Given the description of an element on the screen output the (x, y) to click on. 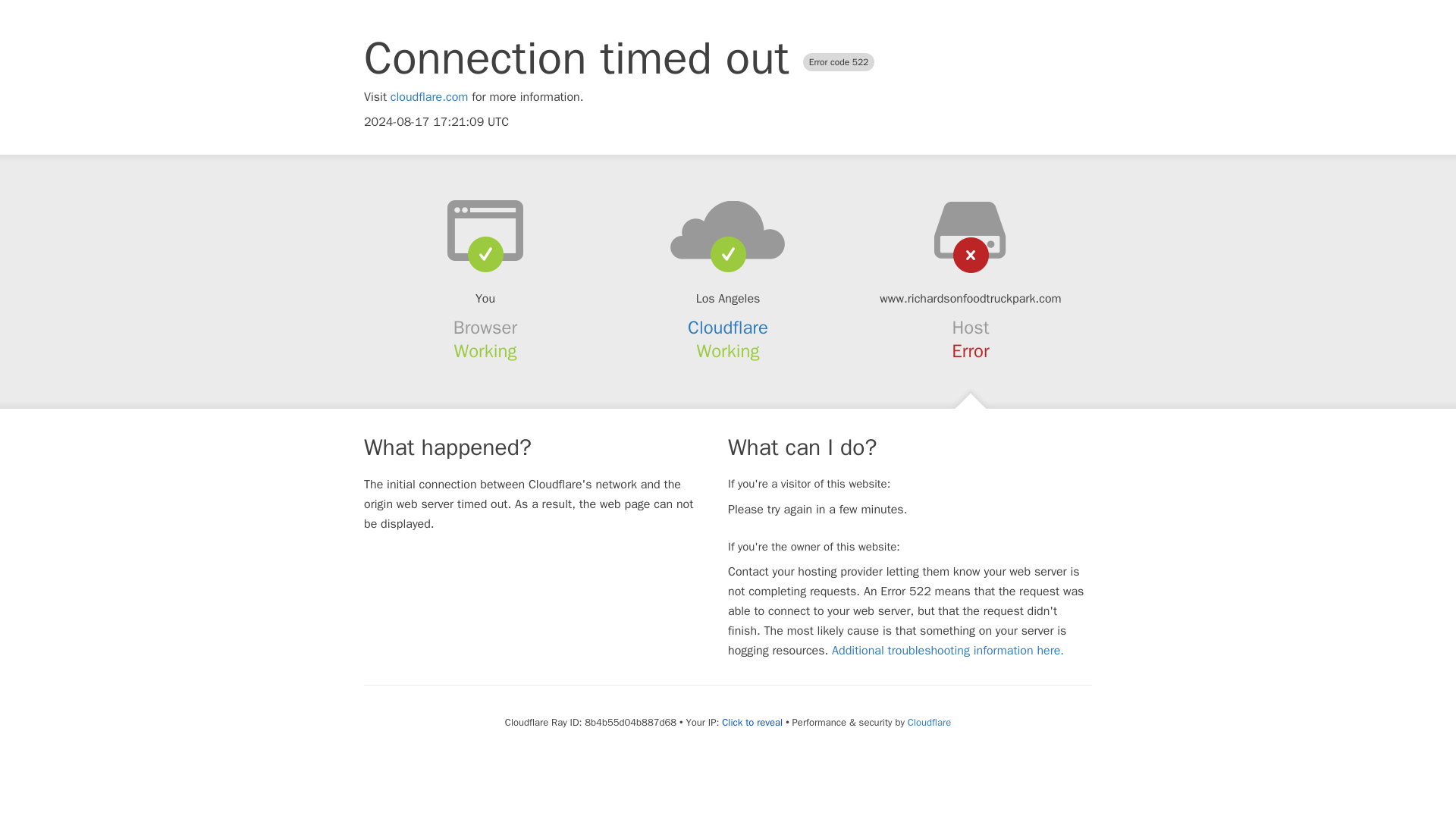
Click to reveal (752, 722)
Cloudflare (727, 327)
Cloudflare (928, 721)
Additional troubleshooting information here. (947, 650)
cloudflare.com (429, 96)
